Given the description of an element on the screen output the (x, y) to click on. 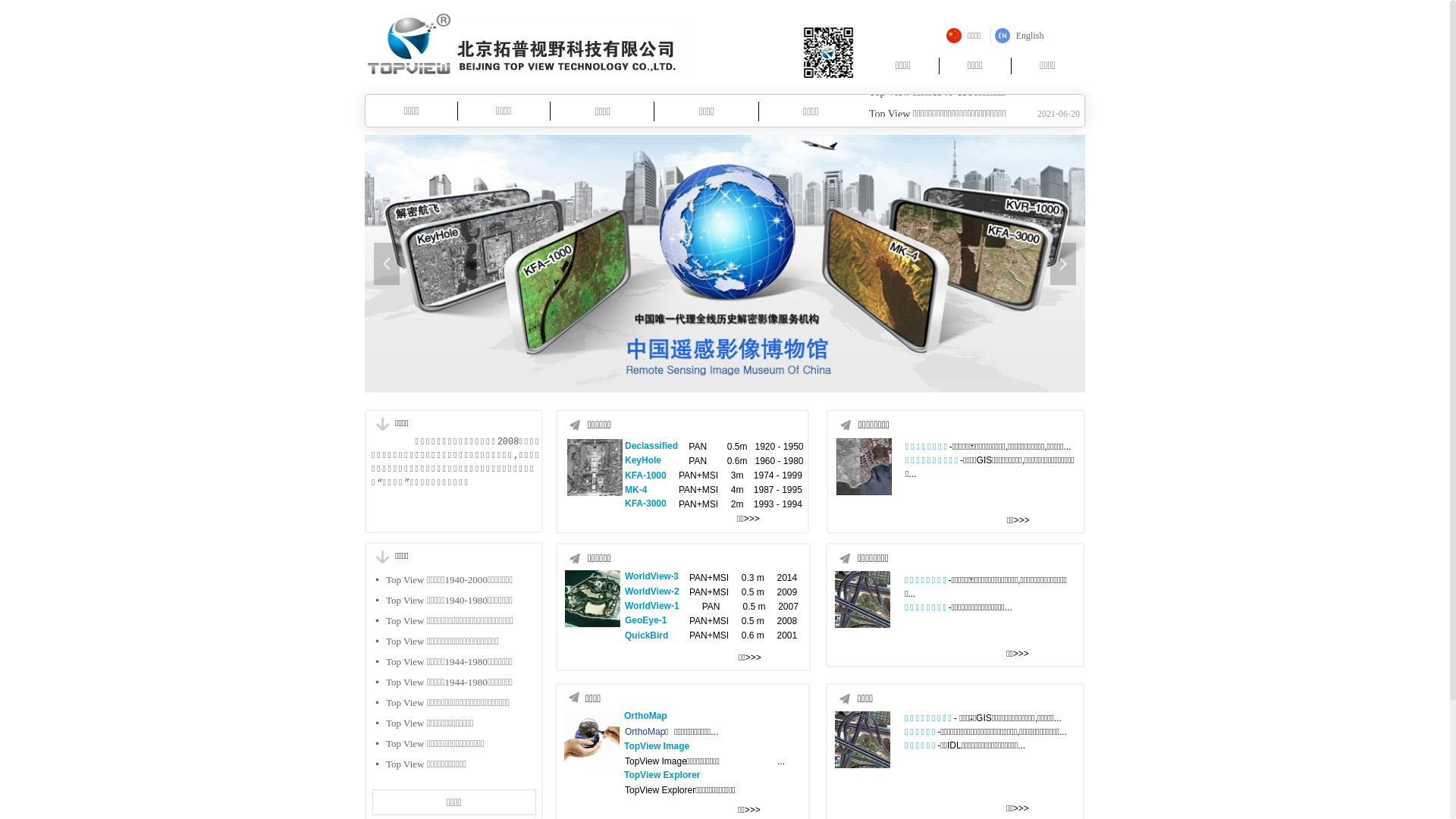
WorldView-2 Element type: text (652, 591)
TopView Image Element type: text (657, 746)
KFA-1000 Element type: text (646, 475)
QuickBird Element type: text (647, 635)
GeoEye-1 Element type: text (646, 620)
3 Element type: text (676, 576)
Declassified Element type: text (652, 445)
OrthoMap Element type: text (645, 715)
KeyHole Element type: text (643, 460)
WorldView- Element type: text (649, 576)
English Element type: text (1019, 35)
TopView Explorer Element type: text (662, 774)
KFA-3000 Element type: text (646, 503)
WorldView-1 Element type: text (652, 605)
MK-4 Element type: text (636, 489)
